Given the description of an element on the screen output the (x, y) to click on. 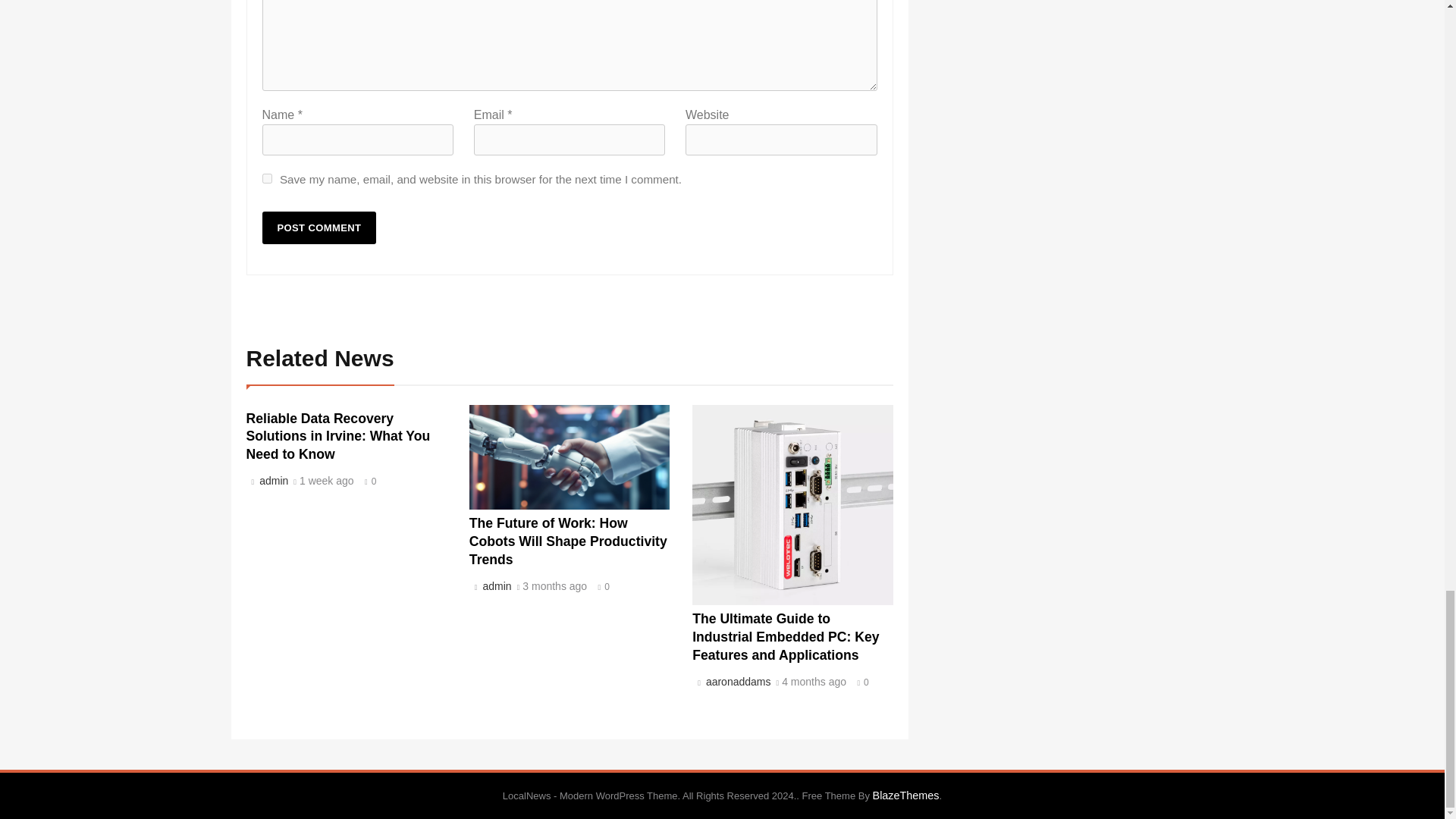
aaronaddams (735, 681)
Post Comment (319, 227)
4 months ago (813, 682)
admin (494, 585)
admin (271, 480)
3 months ago (554, 586)
1 week ago (326, 480)
yes (267, 178)
Post Comment (319, 227)
